Given the description of an element on the screen output the (x, y) to click on. 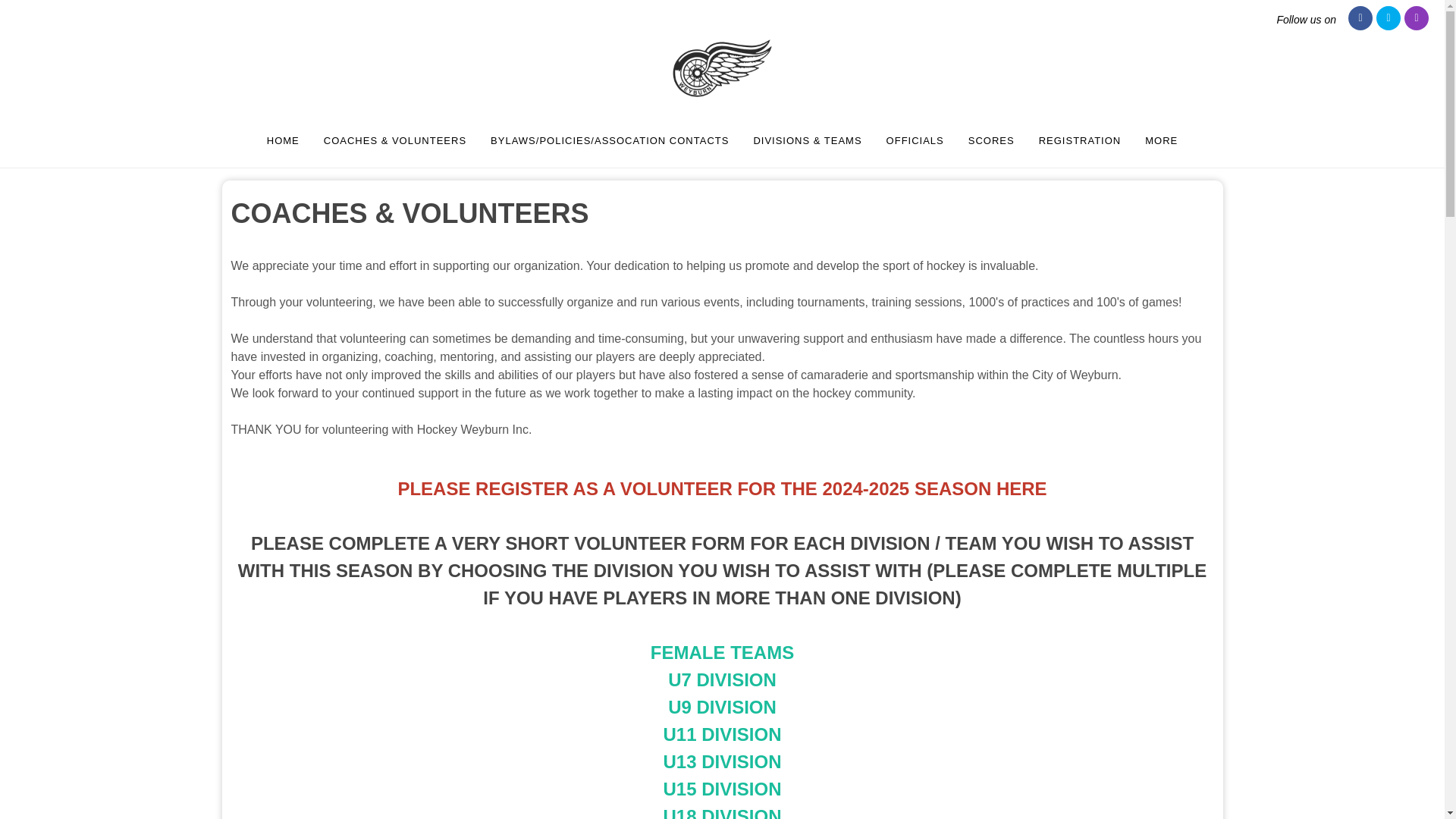
U15 DIVISION (721, 788)
SCORES (991, 140)
U7 DIVISION (722, 679)
U9 DIVISION (722, 706)
HOME (283, 140)
FEMALE TEAMS (721, 652)
REGISTRATION (1079, 140)
U11 DIVISION (721, 733)
U18 DIVISION (721, 812)
